Given the description of an element on the screen output the (x, y) to click on. 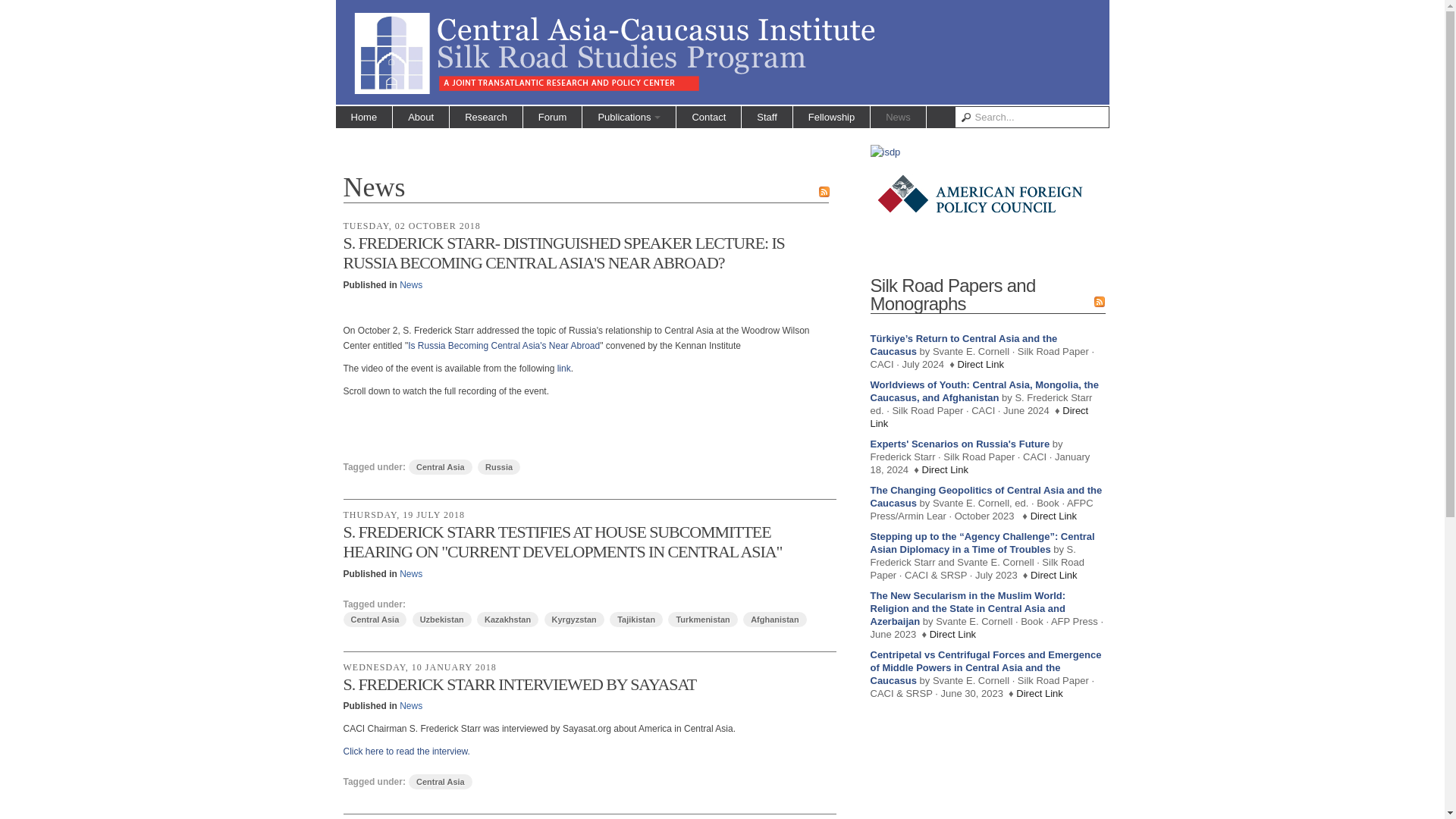
Central Asia (440, 467)
S. FREDERICK STARR INTERVIEWED BY SAYASAT (518, 683)
Home (362, 117)
Fellowship (831, 117)
News (410, 706)
Is Russia Becoming Central Asia's Near Abroad (503, 345)
News (410, 285)
Research (485, 117)
Click here to read the interview. (405, 751)
Kyrgyzstan (574, 619)
Turkmenistan (702, 619)
Contact (709, 117)
Publications (628, 117)
Russia (498, 467)
